Given the description of an element on the screen output the (x, y) to click on. 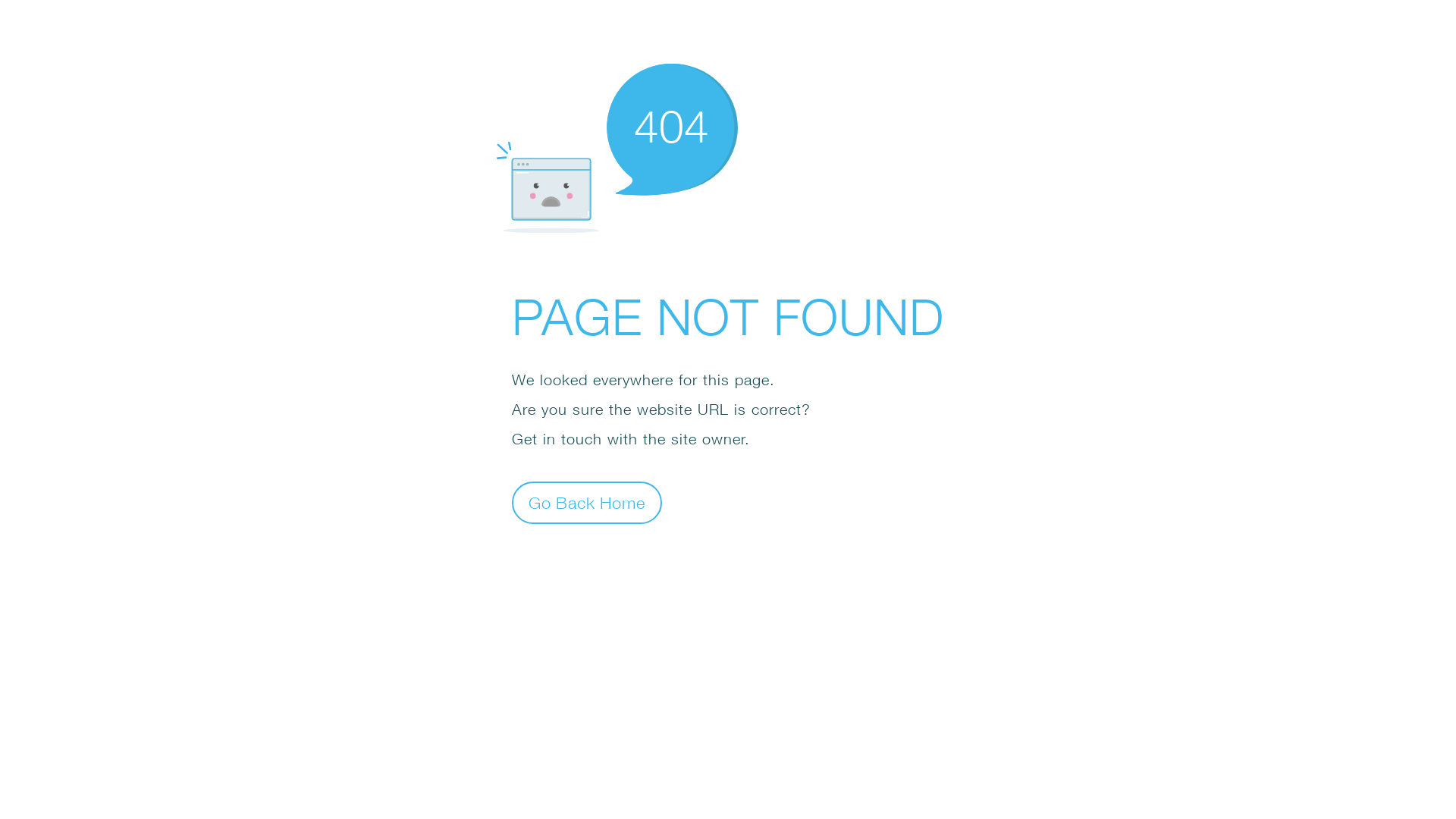
Go Back Home Element type: text (586, 502)
